Given the description of an element on the screen output the (x, y) to click on. 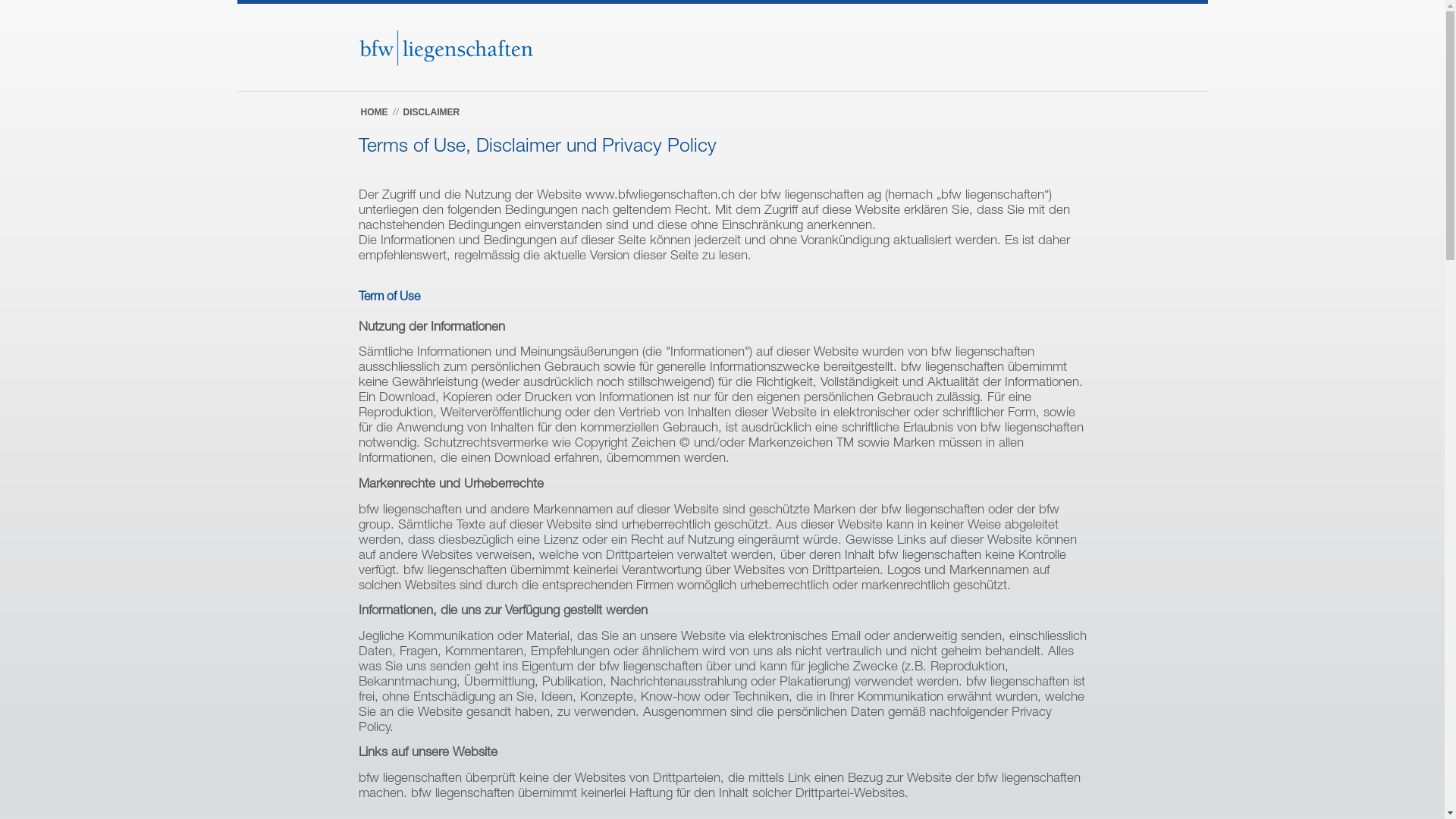
HOME Element type: text (374, 111)
